Given the description of an element on the screen output the (x, y) to click on. 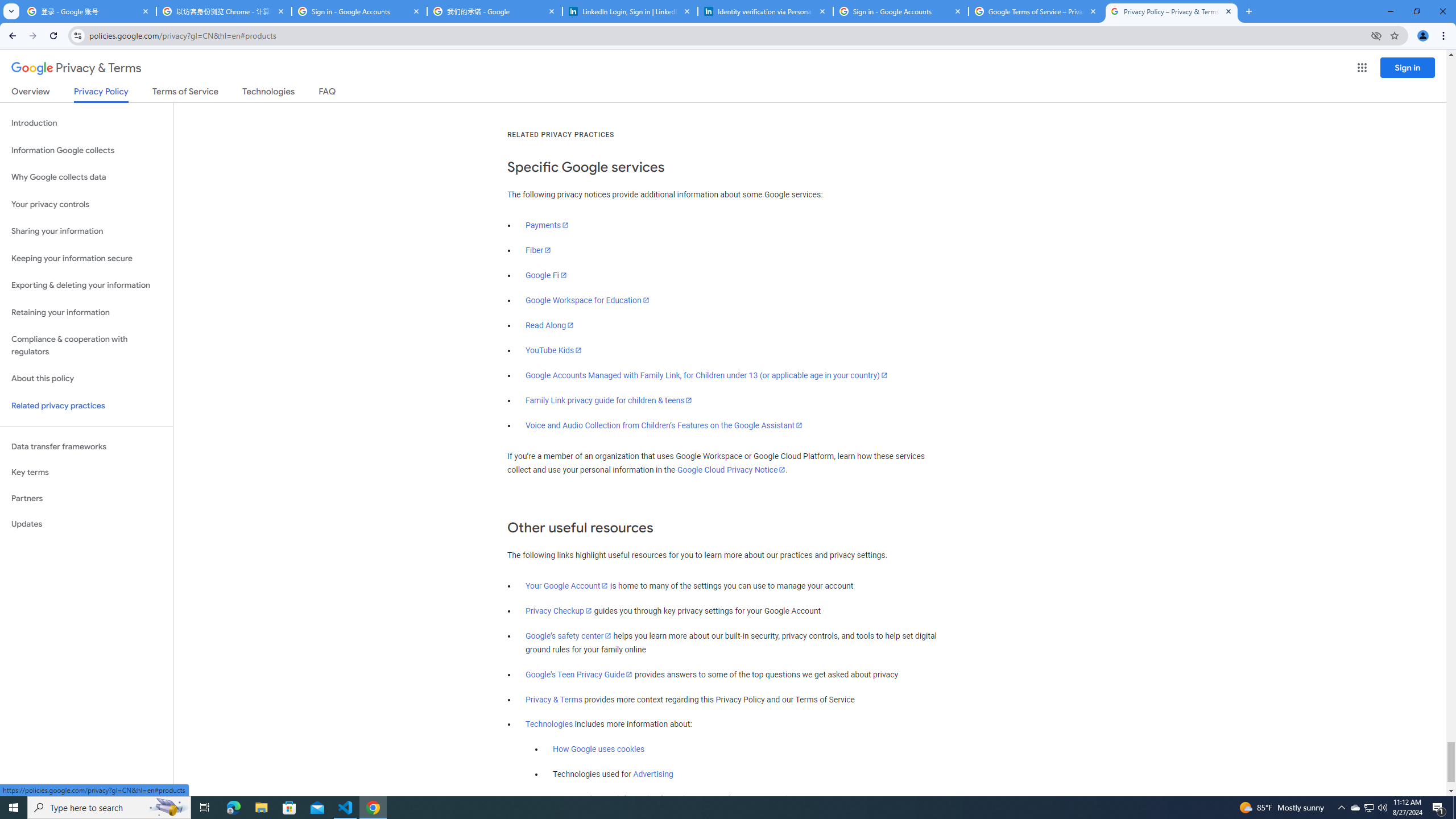
YouTube Kids (553, 350)
Payments (547, 225)
How Google uses cookies (599, 749)
LinkedIn Login, Sign in | LinkedIn (630, 11)
Advertising (652, 774)
